Given the description of an element on the screen output the (x, y) to click on. 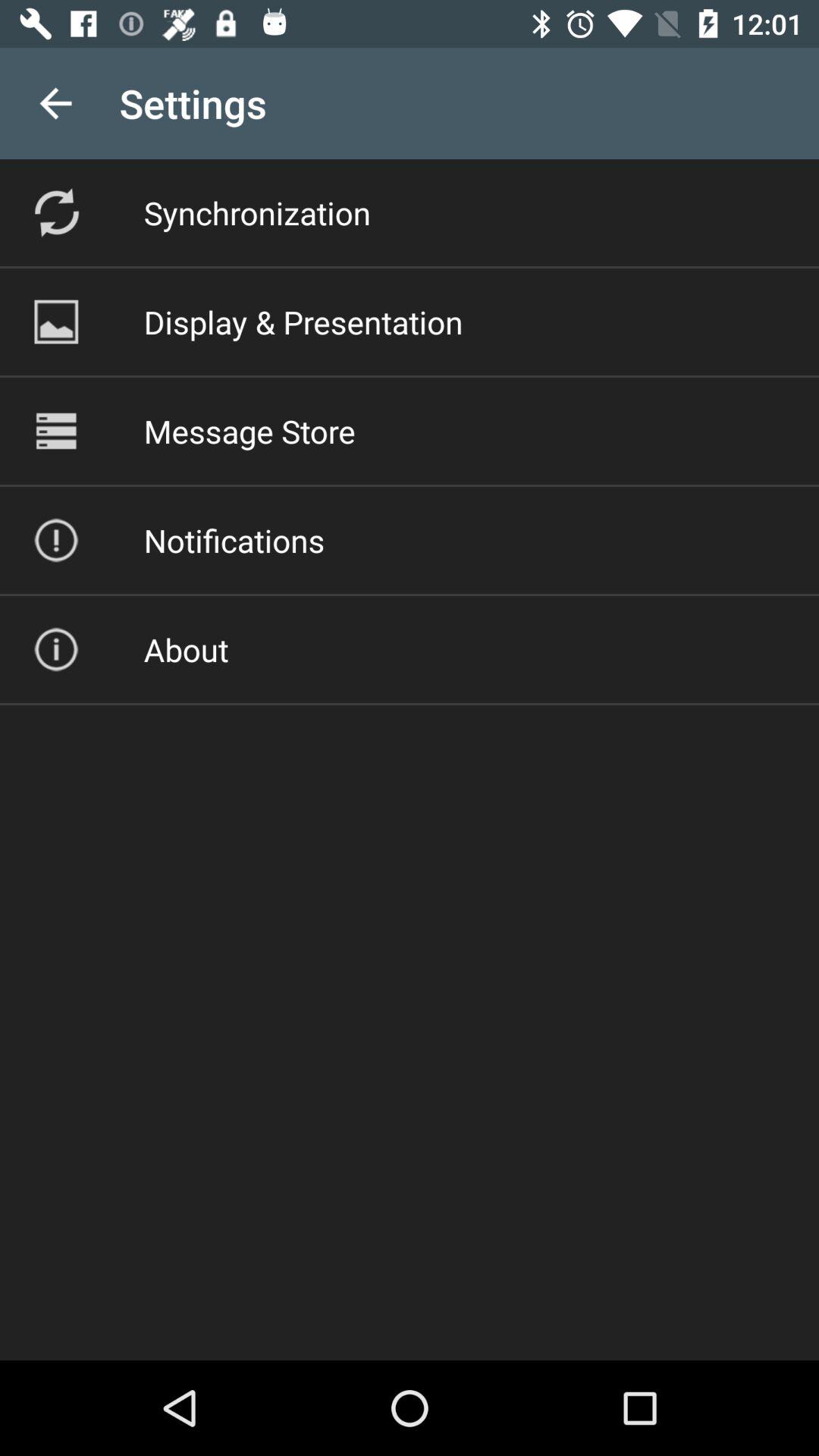
open icon to the left of the settings item (55, 103)
